Given the description of an element on the screen output the (x, y) to click on. 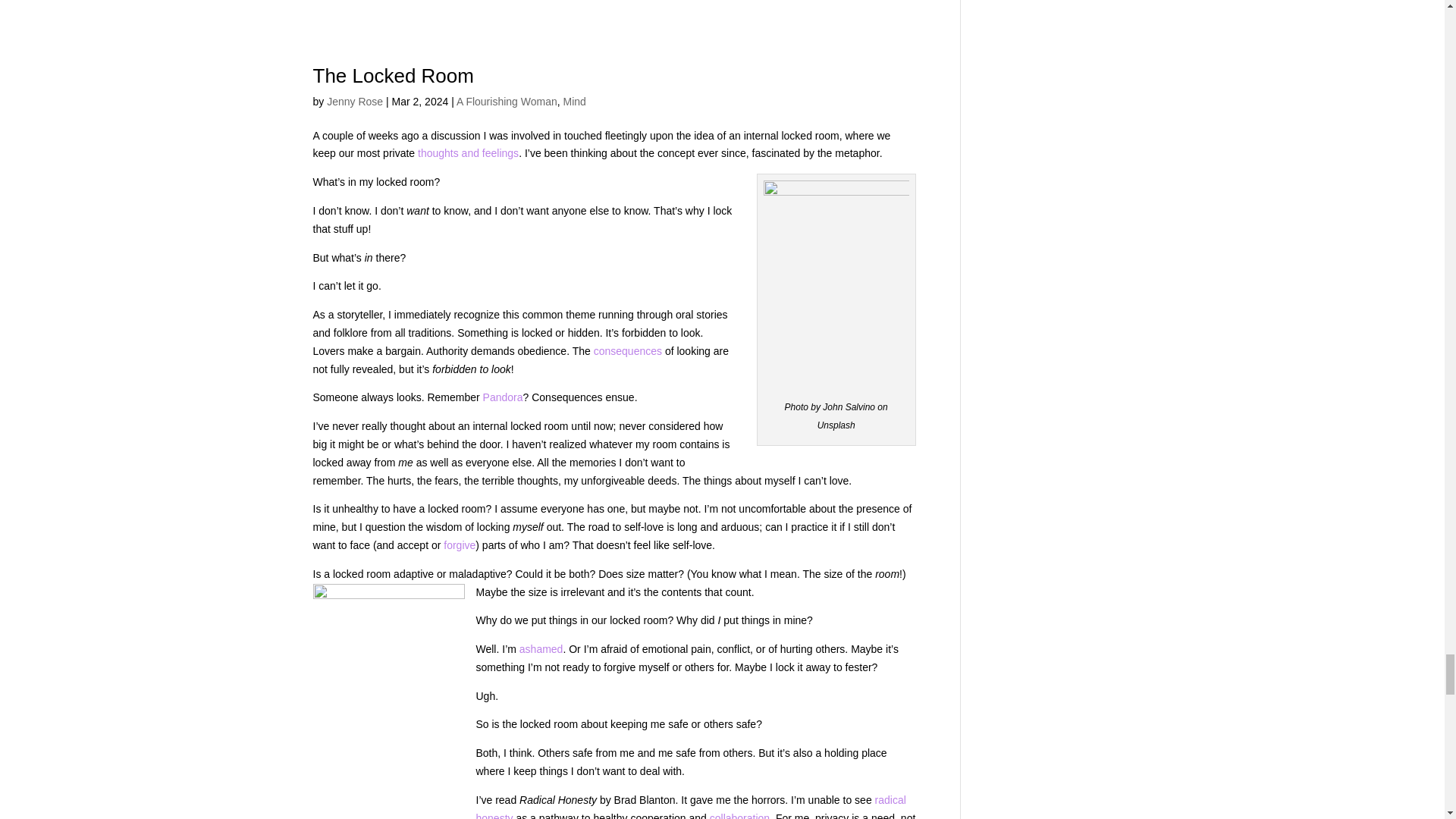
Posts by Jenny Rose (354, 101)
